Given the description of an element on the screen output the (x, y) to click on. 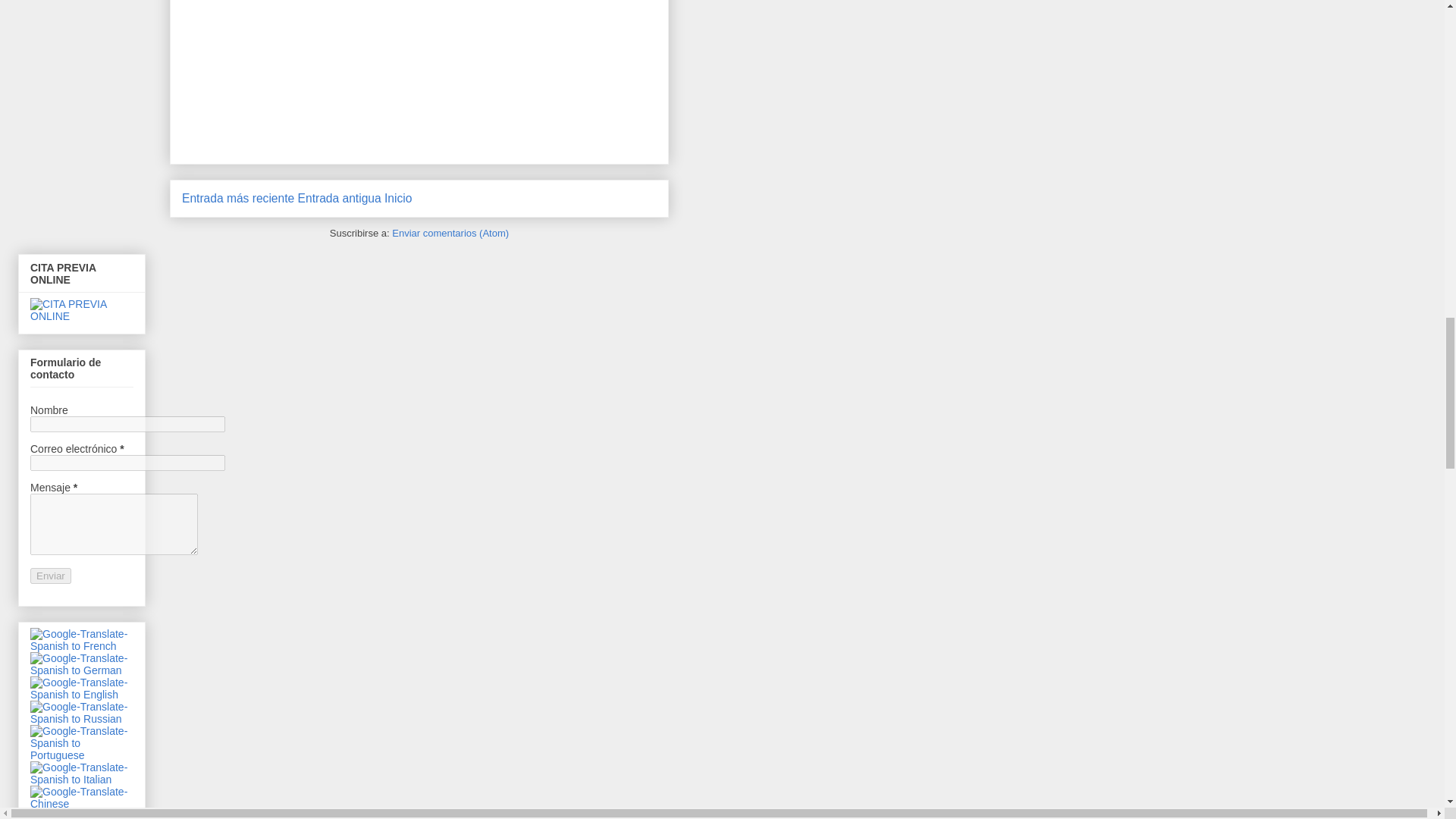
Inicio (398, 197)
Entrada antigua (339, 197)
Enviar (50, 575)
Google-Translate-Spanish to English  (81, 694)
Google-Translate-Spanish to French (81, 639)
Google-Translate-Spanish to German (81, 670)
Google-Translate-Spanish to French  (81, 645)
Entrada antigua (339, 197)
Google-Translate-Spanish to German (81, 663)
